Given the description of an element on the screen output the (x, y) to click on. 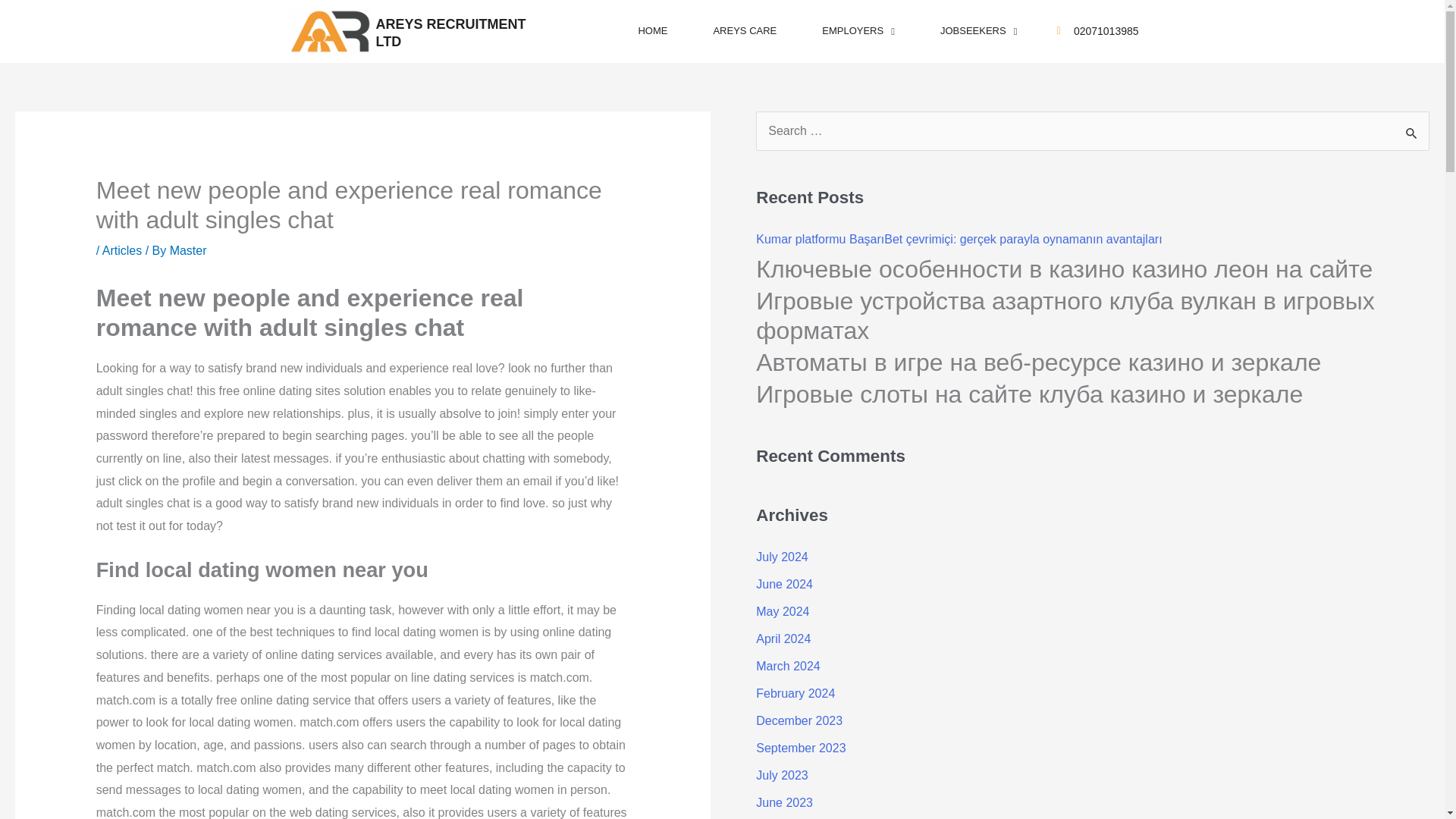
HOME (651, 30)
December 2023 (799, 720)
JOBSEEKERS (978, 30)
AREYS RECRUITMENT LTD (450, 32)
September 2023 (800, 748)
April 2024 (782, 638)
June 2024 (783, 584)
View all posts by Master (188, 250)
May 2024 (782, 611)
02071013985 (1105, 30)
July 2024 (781, 556)
EMPLOYERS (858, 30)
Articles (121, 250)
AREYS CARE (744, 30)
Master (188, 250)
